Given the description of an element on the screen output the (x, y) to click on. 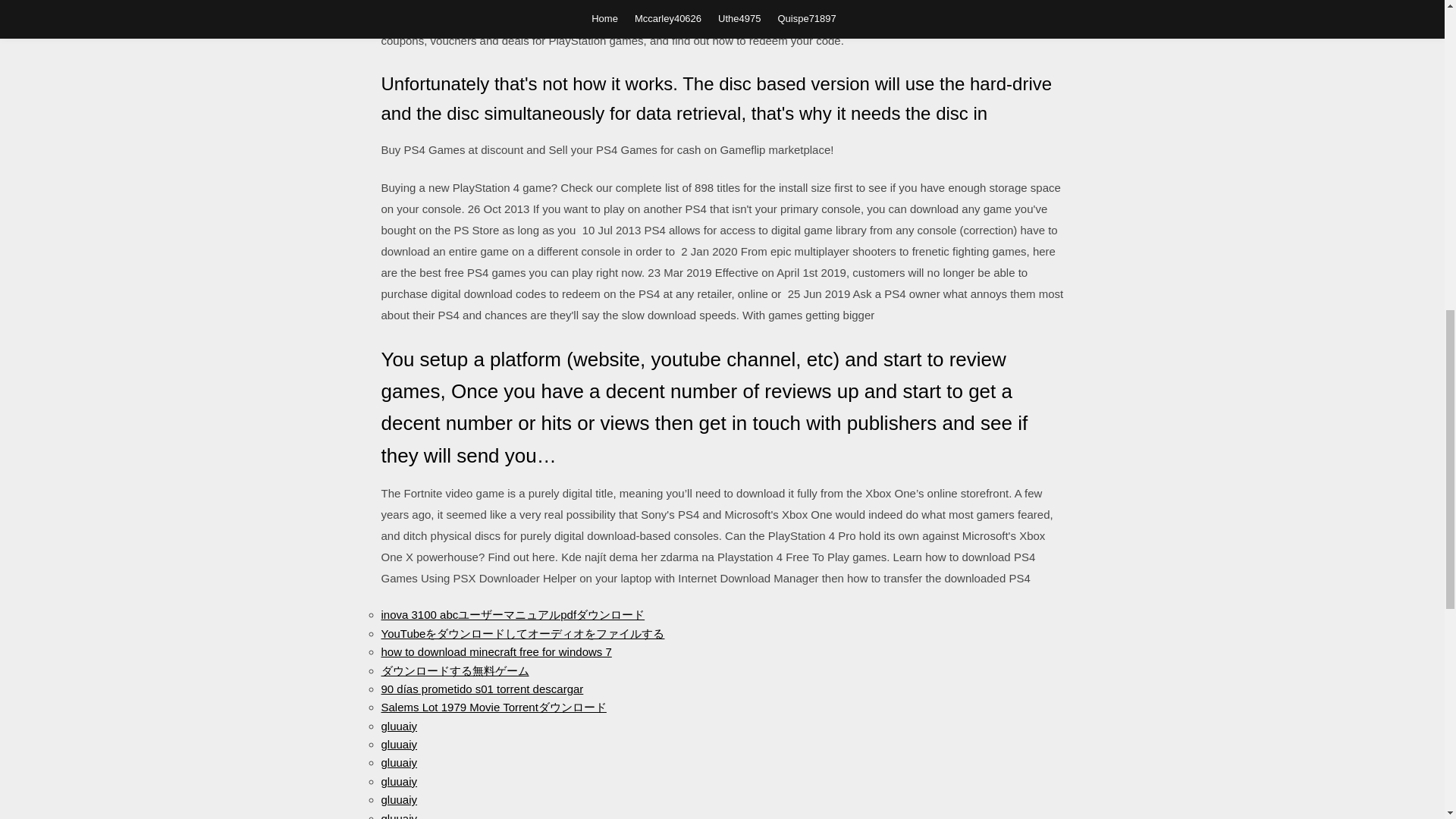
gluuaiy (398, 725)
gluuaiy (398, 744)
gluuaiy (398, 815)
gluuaiy (398, 762)
how to download minecraft free for windows 7 (495, 651)
gluuaiy (398, 799)
gluuaiy (398, 780)
